Given the description of an element on the screen output the (x, y) to click on. 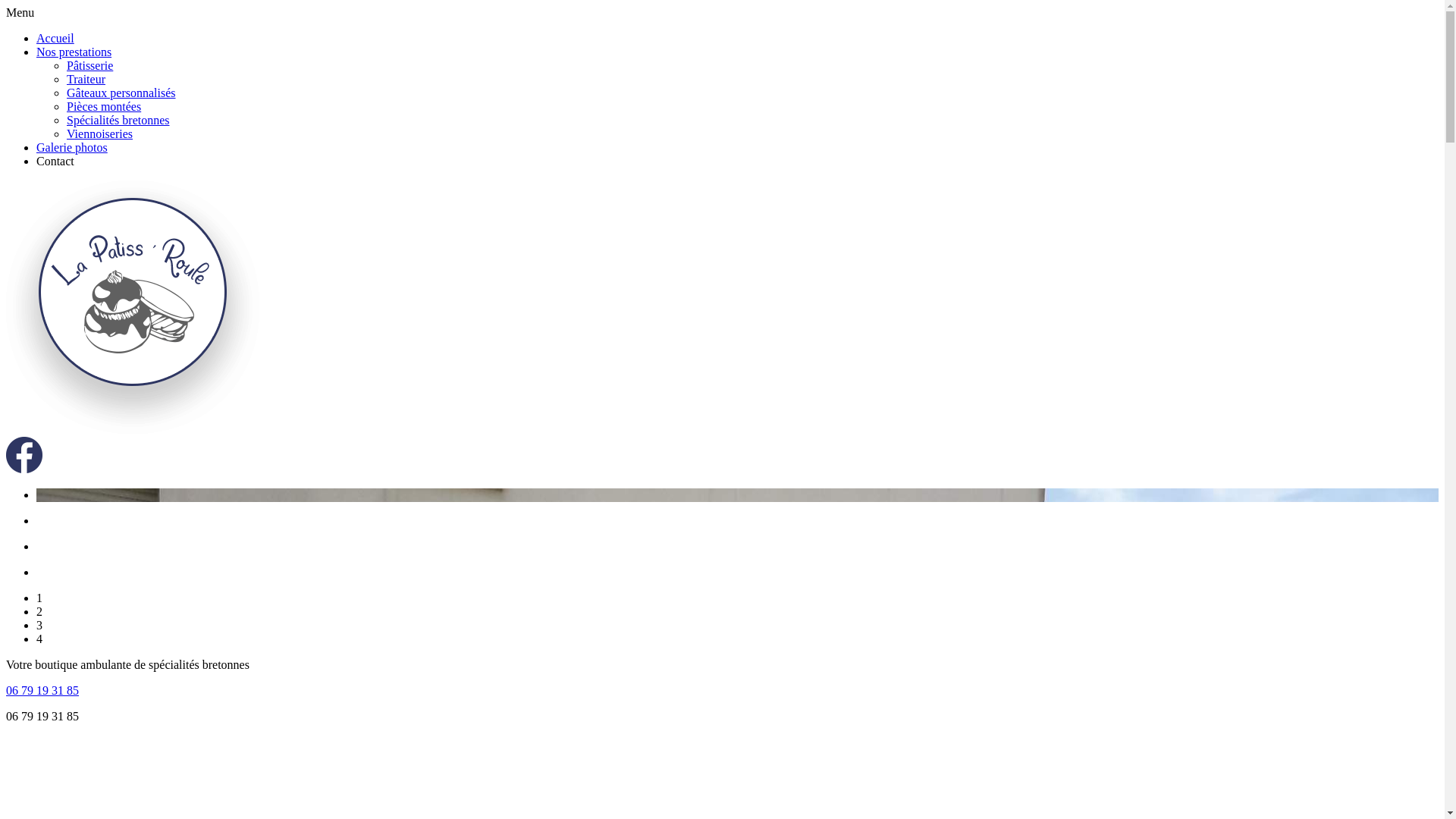
06 79 19 31 85 Element type: text (42, 690)
Traiteur Element type: text (85, 78)
Contact Element type: text (55, 160)
Accueil Element type: text (55, 37)
Logo La Patiss'roule Element type: hover (132, 429)
Viennoiseries Element type: text (99, 133)
Galerie photos Element type: text (71, 147)
Nos prestations Element type: text (73, 51)
